Given the description of an element on the screen output the (x, y) to click on. 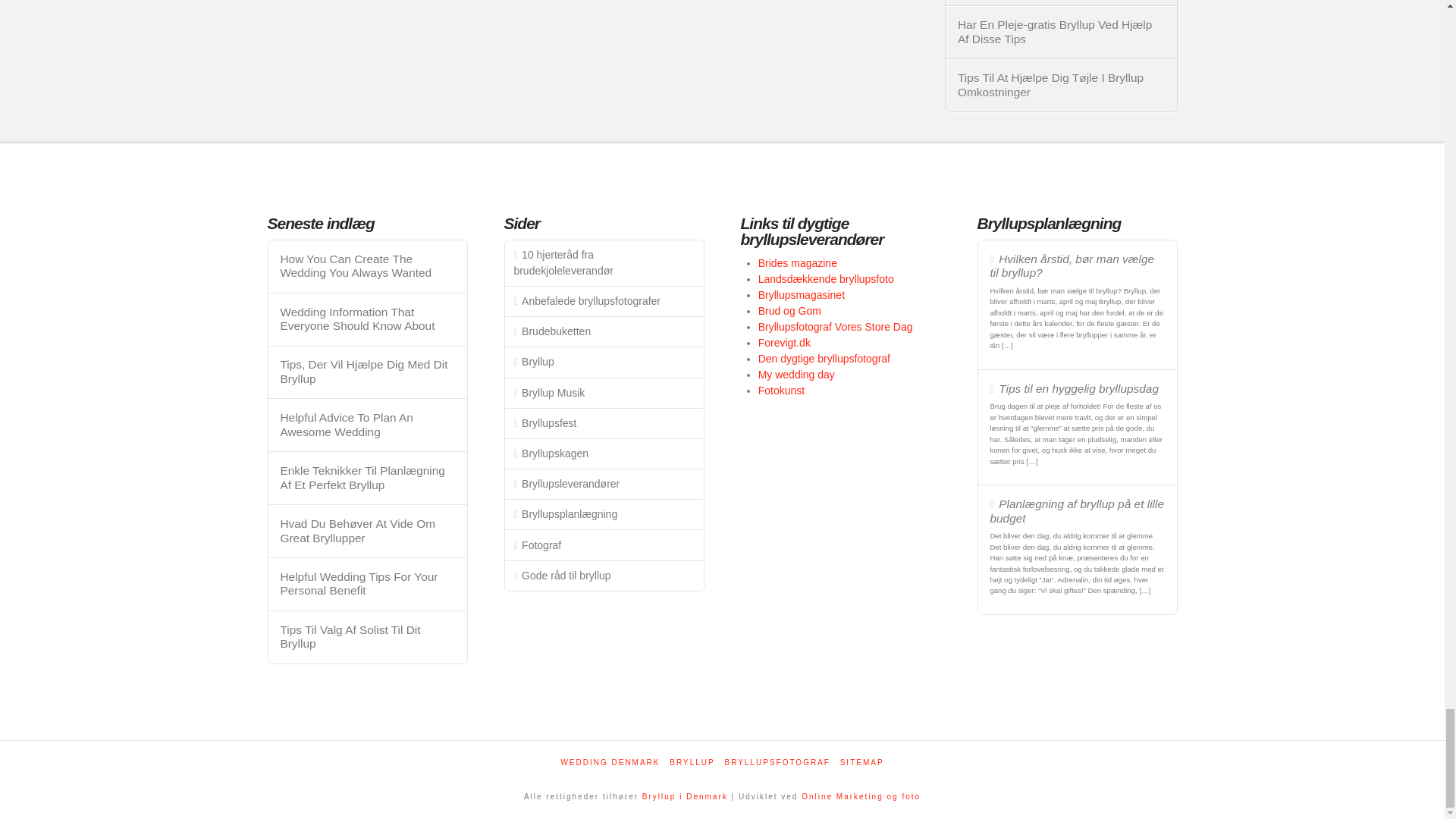
Bryllup (685, 796)
Online Marketing og foto (861, 796)
